Given the description of an element on the screen output the (x, y) to click on. 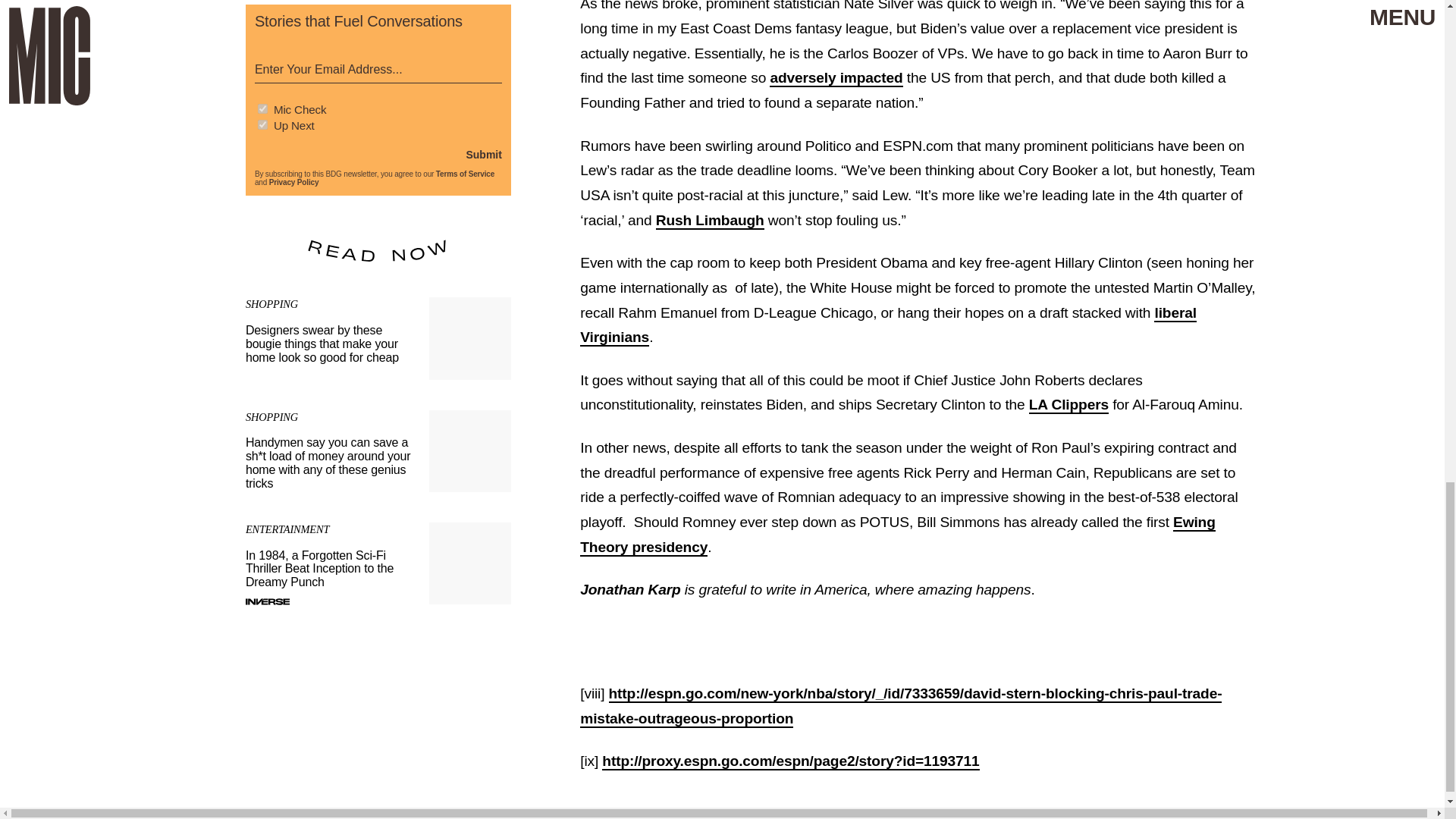
Privacy Policy (293, 182)
Ewing Theory presidency (896, 535)
Rush Limbaugh (710, 221)
adversely impacted (836, 77)
Terms of Service (465, 173)
LA Clippers (1068, 405)
liberal Virginians (887, 325)
Submit (482, 154)
